Given the description of an element on the screen output the (x, y) to click on. 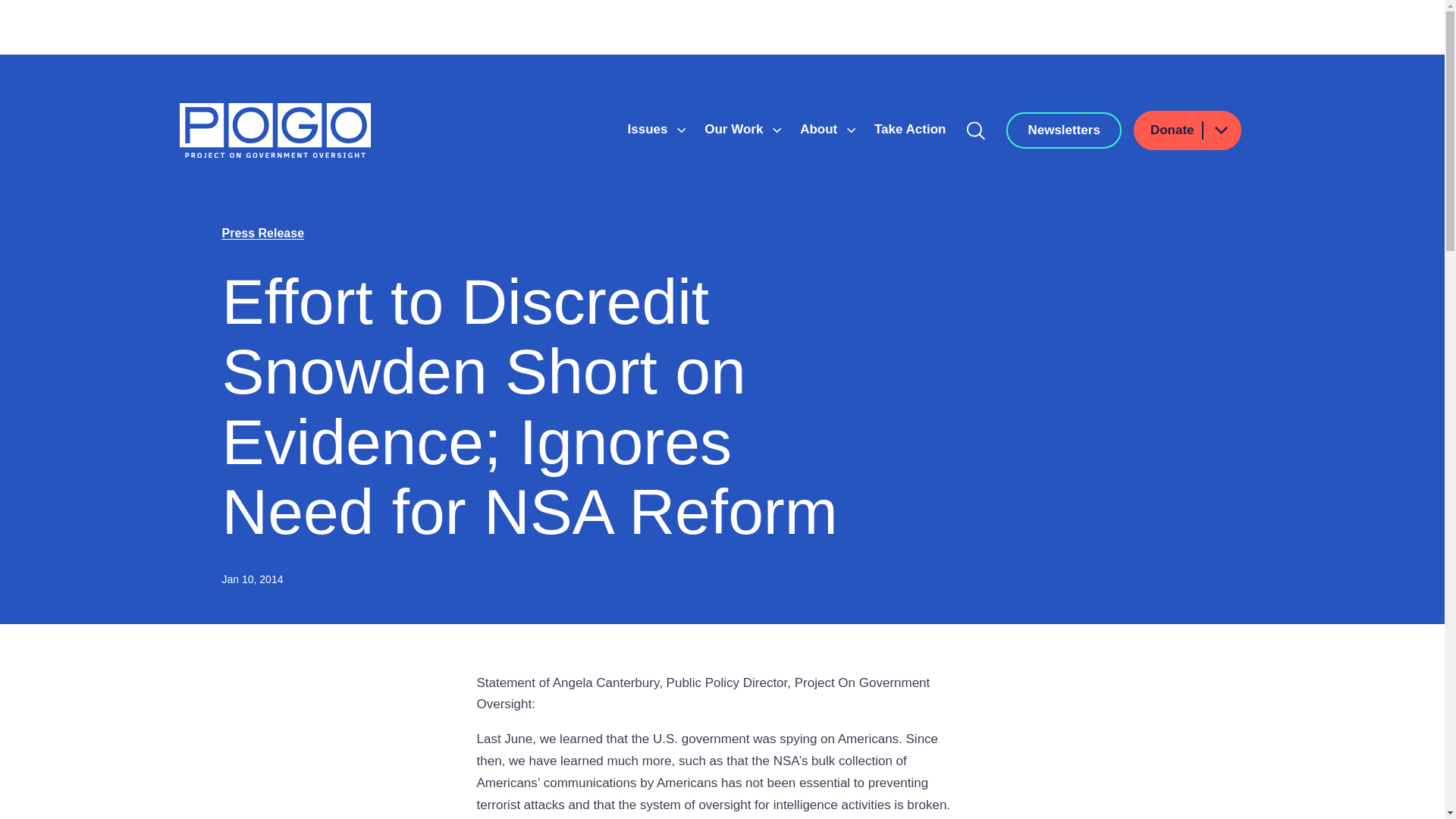
Our Work (735, 129)
Search (976, 130)
Home (274, 130)
Show submenu for Issues (681, 130)
About (820, 129)
Show submenu for About (851, 130)
Newsletters (1063, 130)
Donate (1187, 130)
Take Action (909, 129)
Show submenu for Our Work (777, 130)
